Given the description of an element on the screen output the (x, y) to click on. 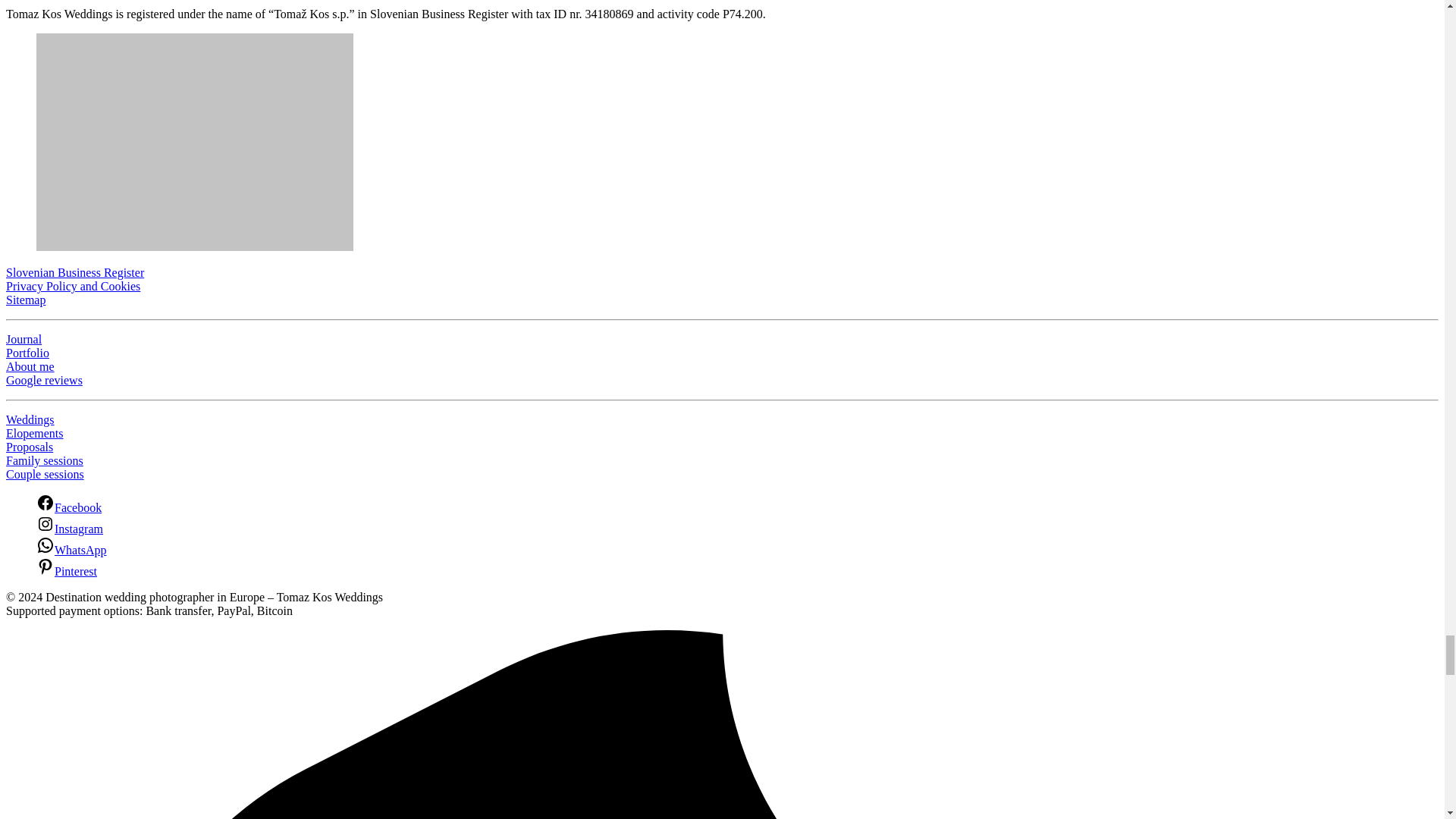
Journal (23, 338)
Privacy Policy and Cookies (72, 286)
Slovenian Business Register (74, 272)
Sitemap (25, 299)
